Given the description of an element on the screen output the (x, y) to click on. 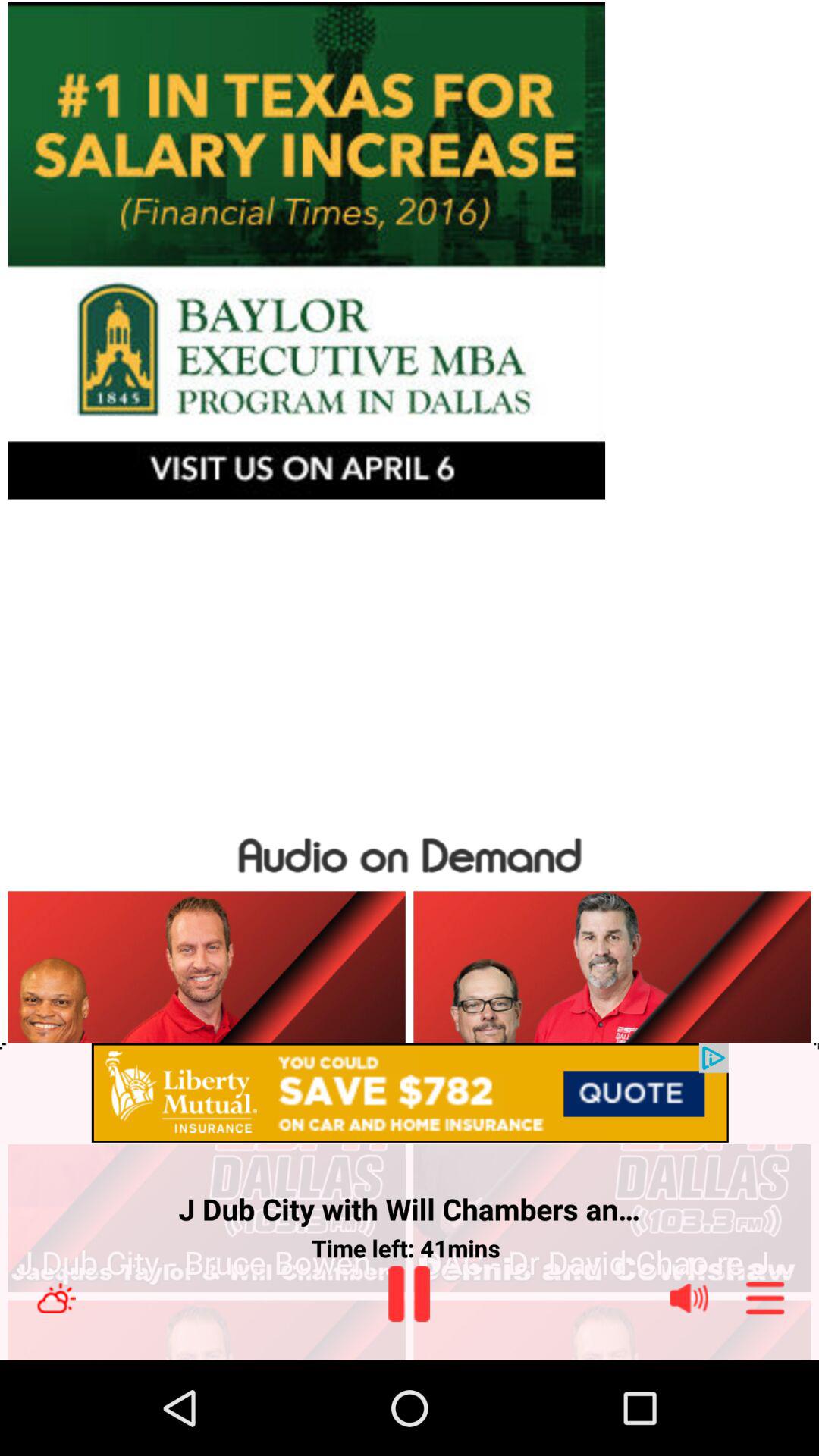
open advertisement (409, 1093)
